Given the description of an element on the screen output the (x, y) to click on. 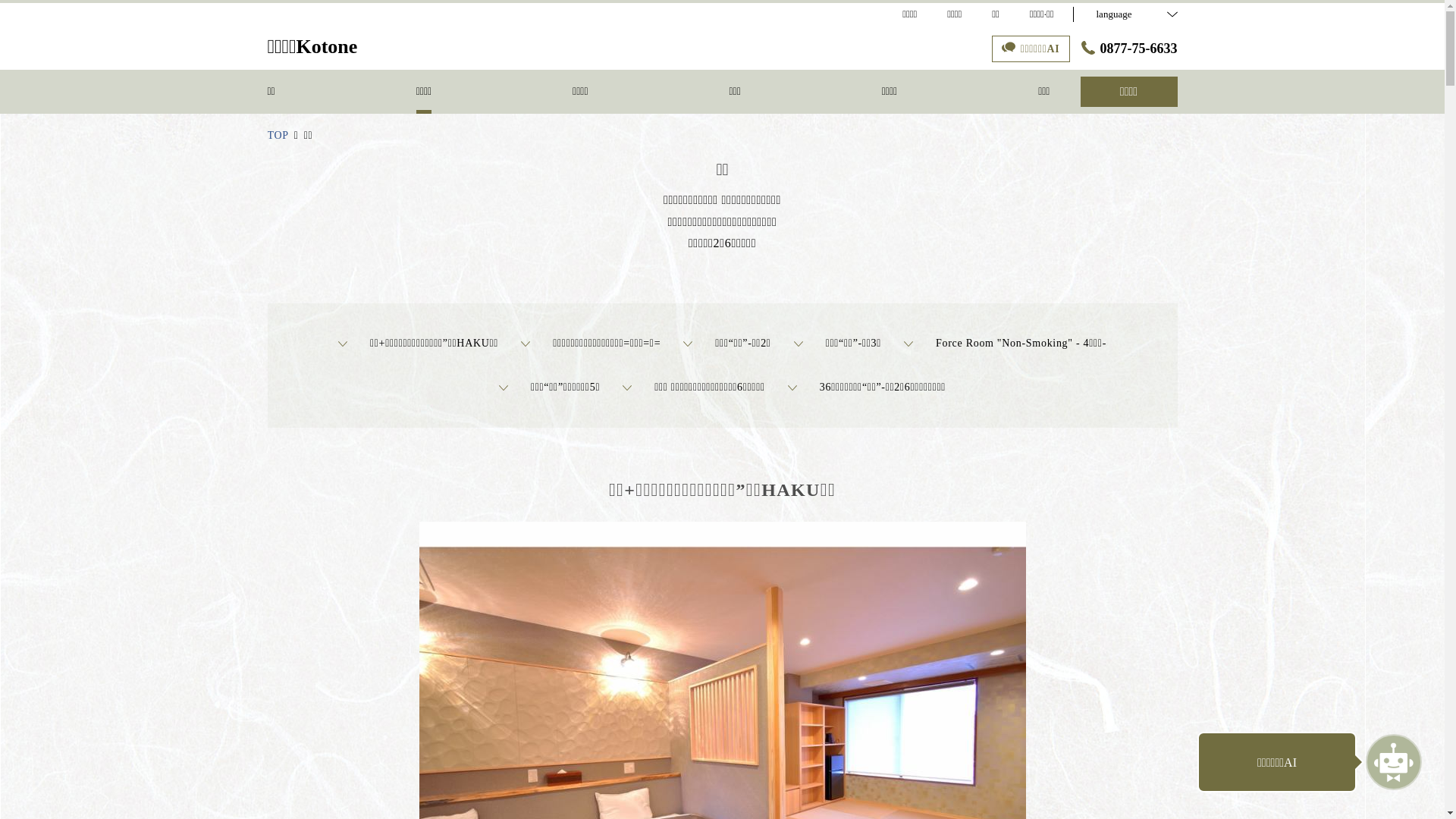
TOP Element type: text (277, 134)
